Given the description of an element on the screen output the (x, y) to click on. 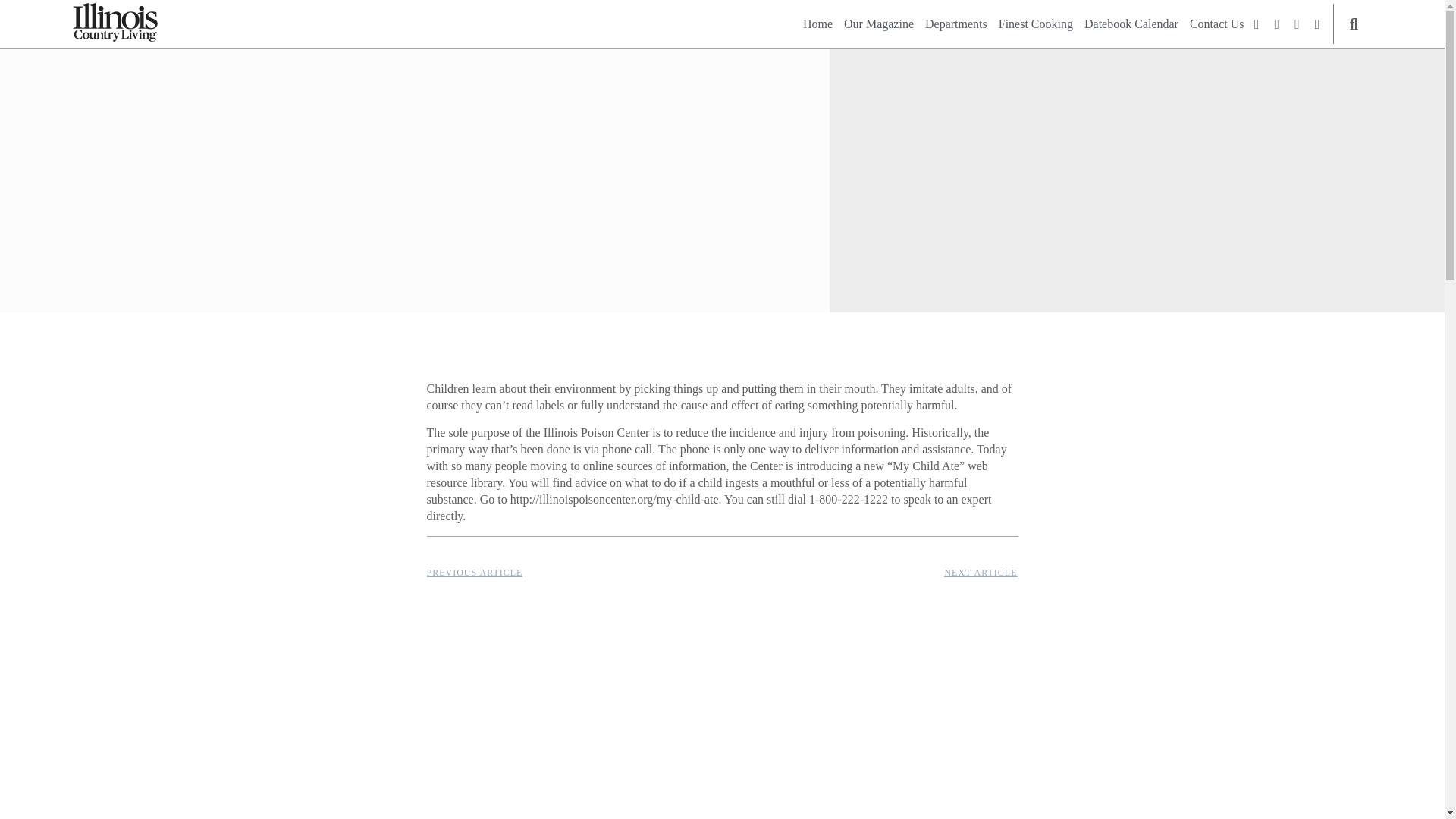
Contact Us (1217, 24)
ICL-logo-blk (114, 22)
Datebook Calendar (1131, 24)
Home (817, 24)
Our Magazine (879, 24)
Departments (955, 24)
Finest Cooking (1035, 24)
